Given the description of an element on the screen output the (x, y) to click on. 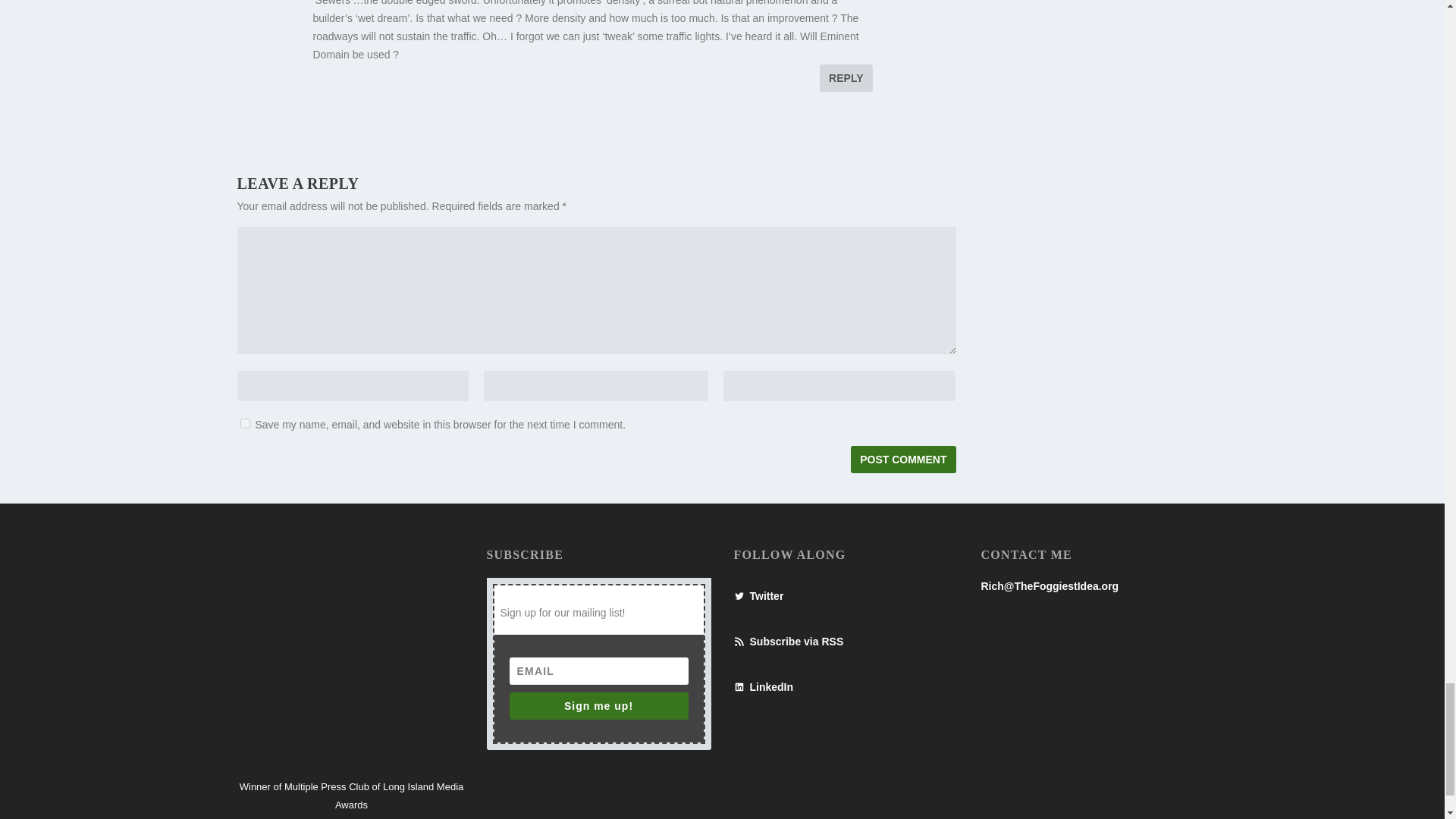
yes (244, 423)
Post Comment (902, 459)
